Given the description of an element on the screen output the (x, y) to click on. 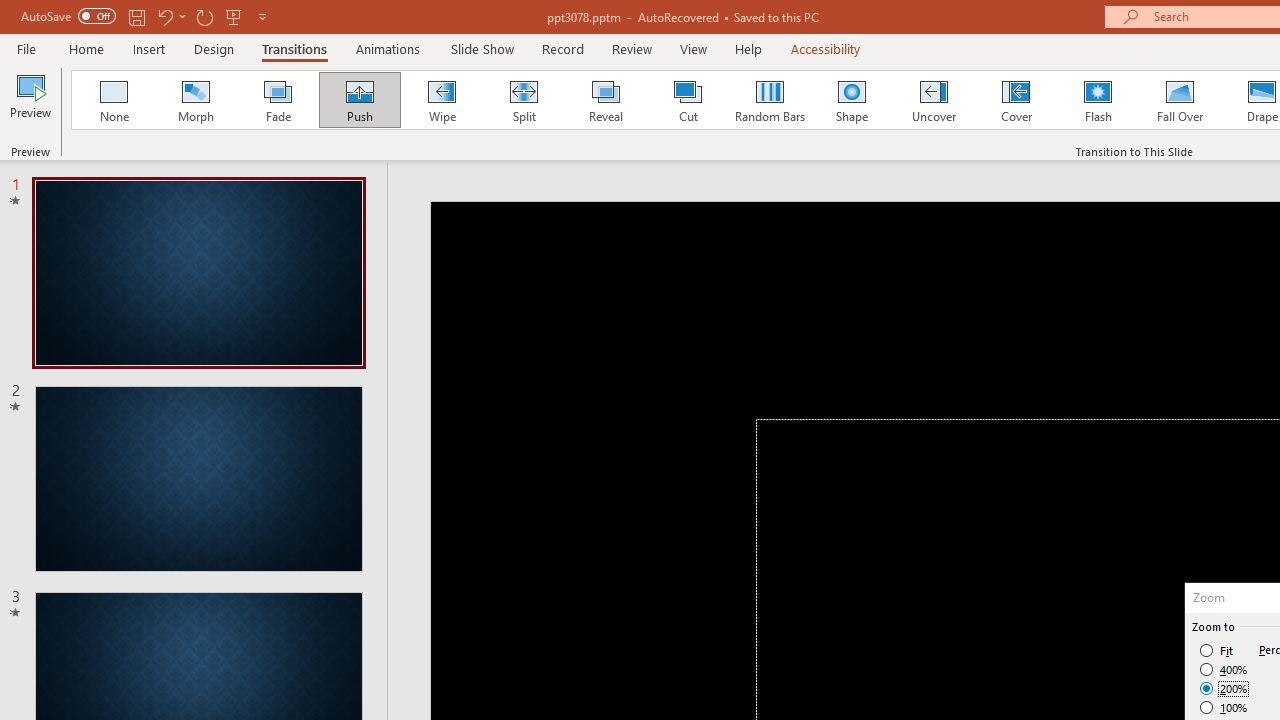
400% (1224, 669)
None (113, 100)
100% (1224, 707)
Cover (1016, 100)
Uncover (934, 100)
Random Bars (770, 100)
Fall Over (1180, 100)
